Given the description of an element on the screen output the (x, y) to click on. 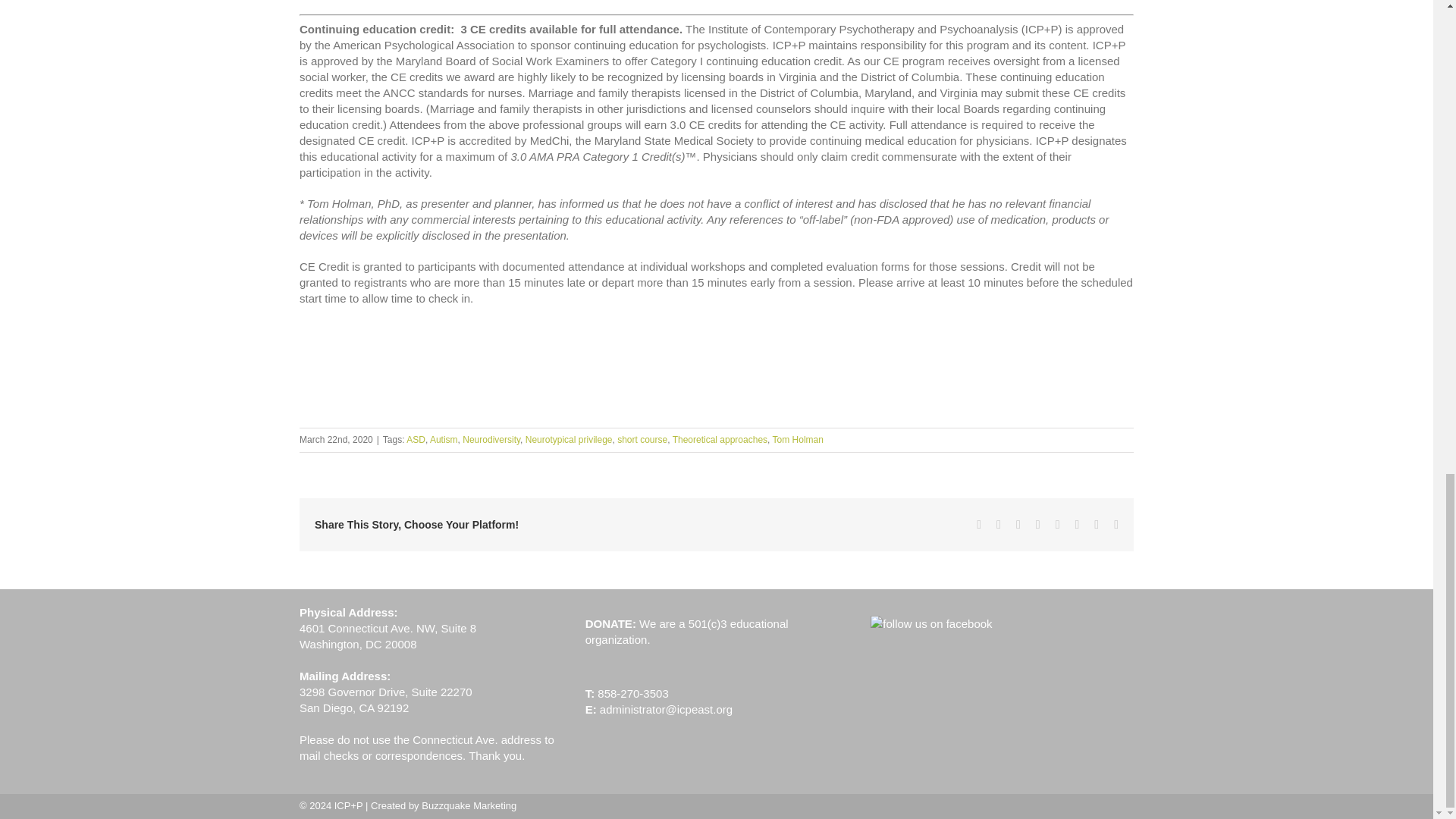
follow us on facebook (930, 623)
